Given the description of an element on the screen output the (x, y) to click on. 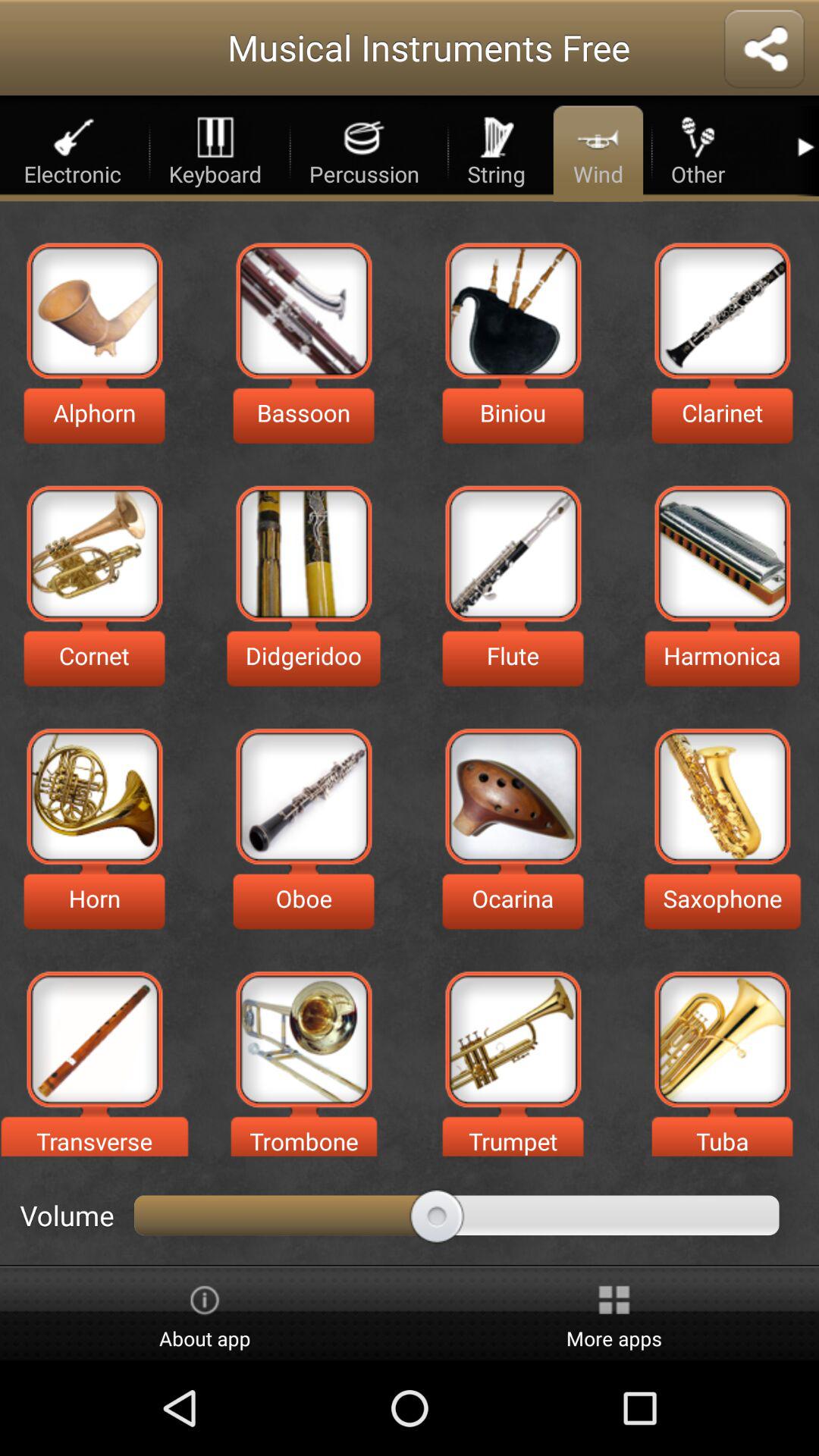
listen to saxophone (722, 796)
